Given the description of an element on the screen output the (x, y) to click on. 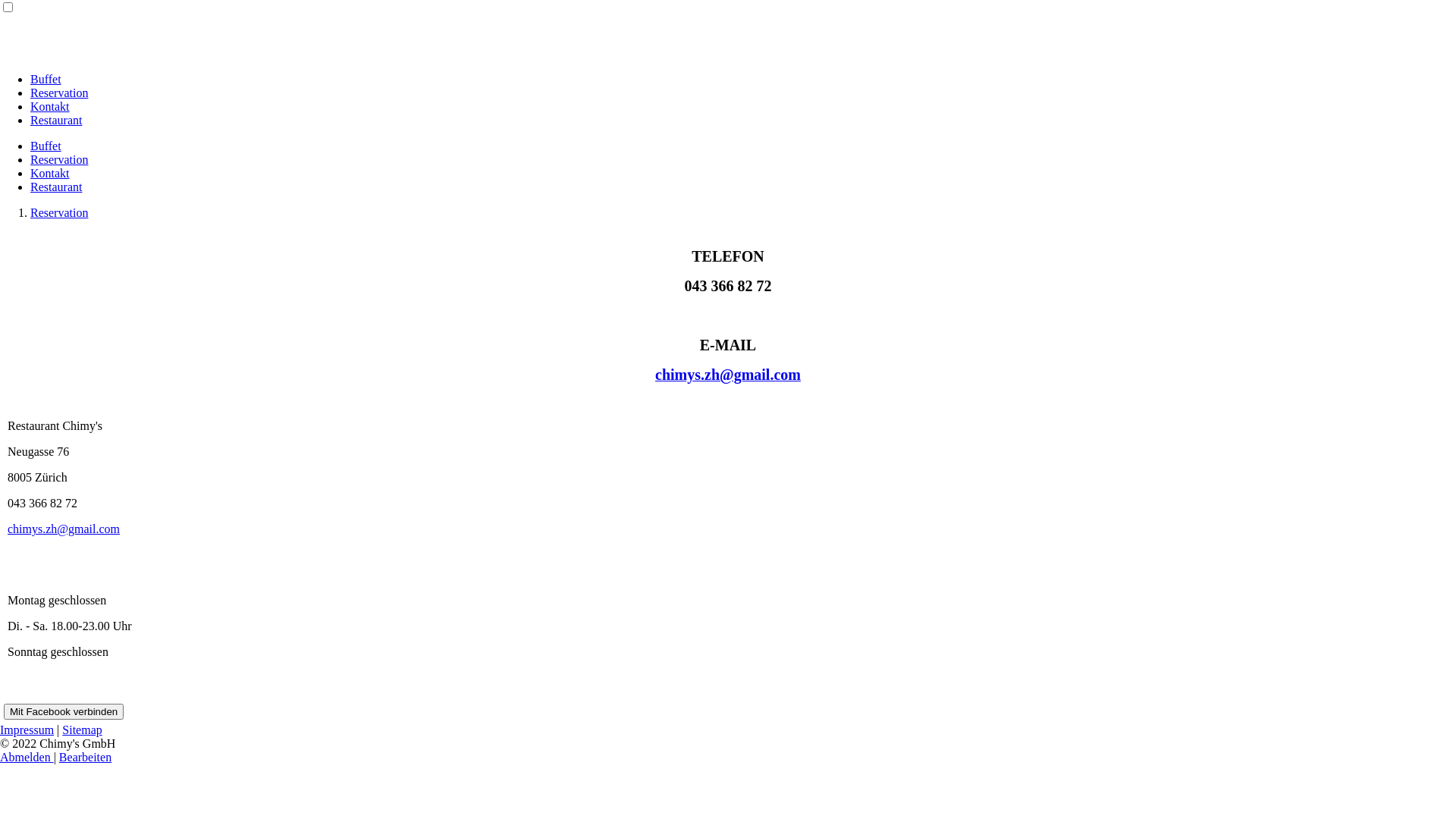
Kontakt Element type: text (49, 106)
Sitemap Element type: text (81, 729)
Impressum Element type: text (26, 729)
Reservation Element type: text (58, 92)
Abmelden Element type: text (26, 756)
Reservation Element type: text (58, 212)
chimys.zh@gmail.com Element type: text (63, 528)
Kontakt Element type: text (49, 172)
chimys.zh@gmail.com Element type: text (727, 375)
Bearbeiten Element type: text (85, 756)
Restaurant Element type: text (55, 119)
Buffet Element type: text (45, 145)
Reservation Element type: text (58, 159)
Buffet Element type: text (45, 78)
Restaurant Element type: text (55, 186)
Mit Facebook verbinden Element type: text (63, 711)
